Given the description of an element on the screen output the (x, y) to click on. 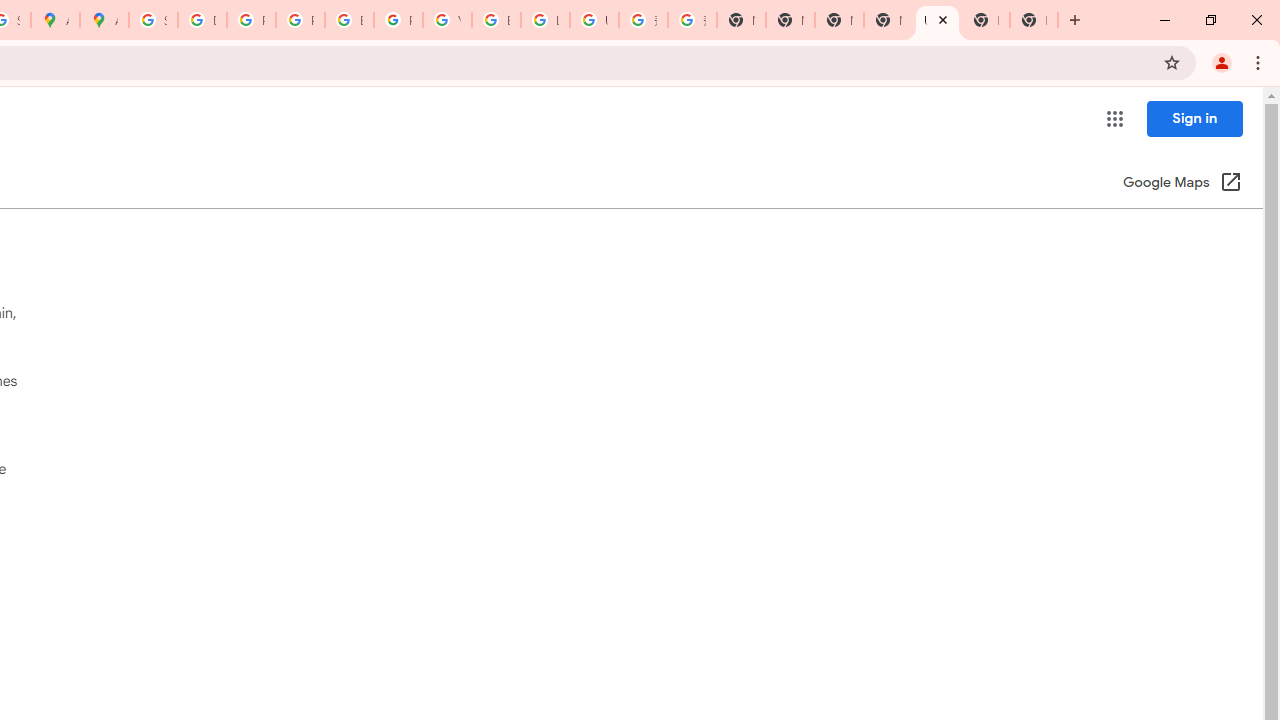
New Tab (985, 20)
Google Maps (Open in a new window) (1182, 183)
New Tab (1033, 20)
Privacy Help Center - Policies Help (251, 20)
New Tab (888, 20)
Privacy Help Center - Policies Help (300, 20)
